Given the description of an element on the screen output the (x, y) to click on. 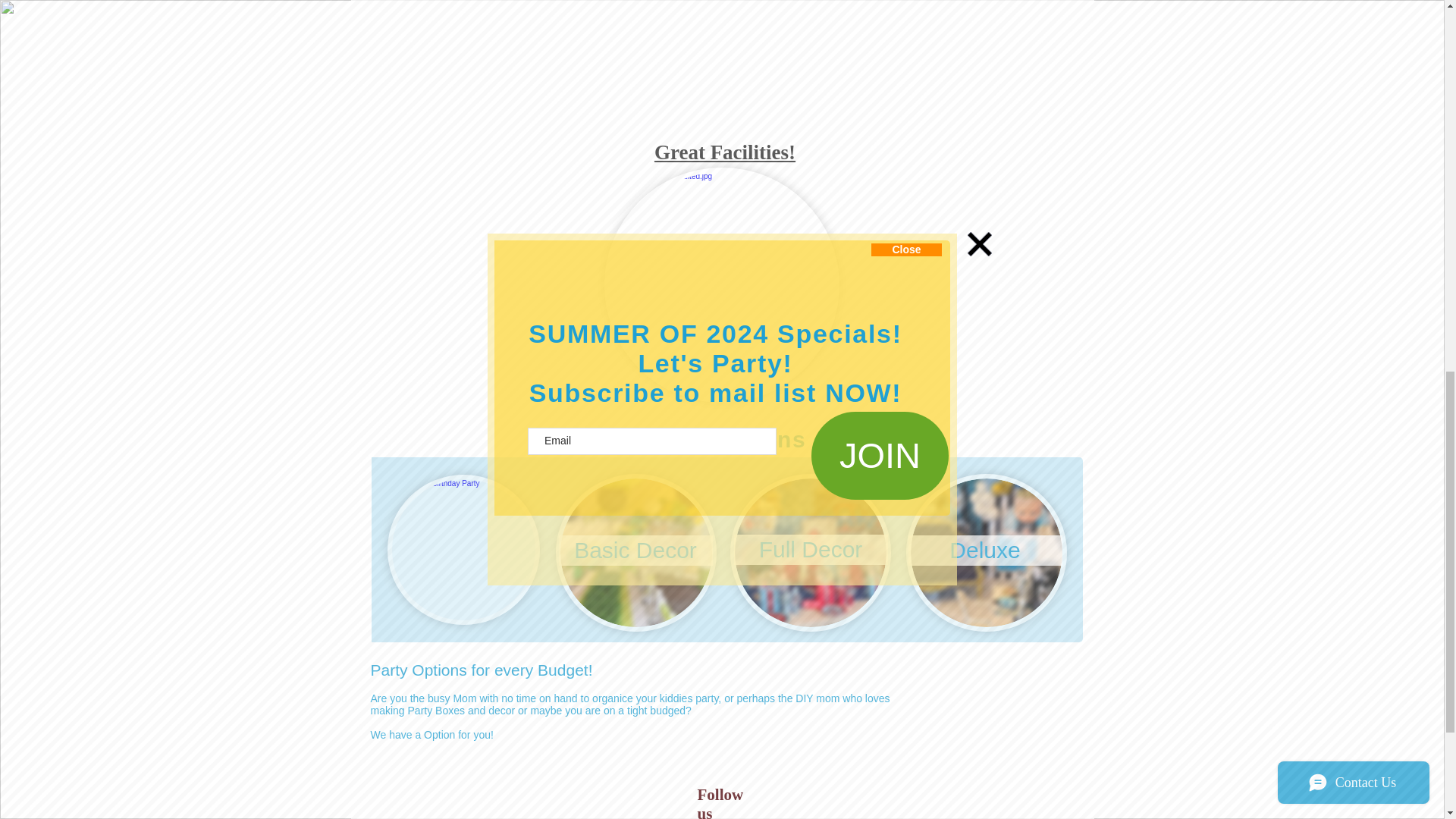
Deluxe (985, 550)
Great Facilities! (723, 151)
Basic Decor (634, 550)
Full Decor (810, 549)
